Given the description of an element on the screen output the (x, y) to click on. 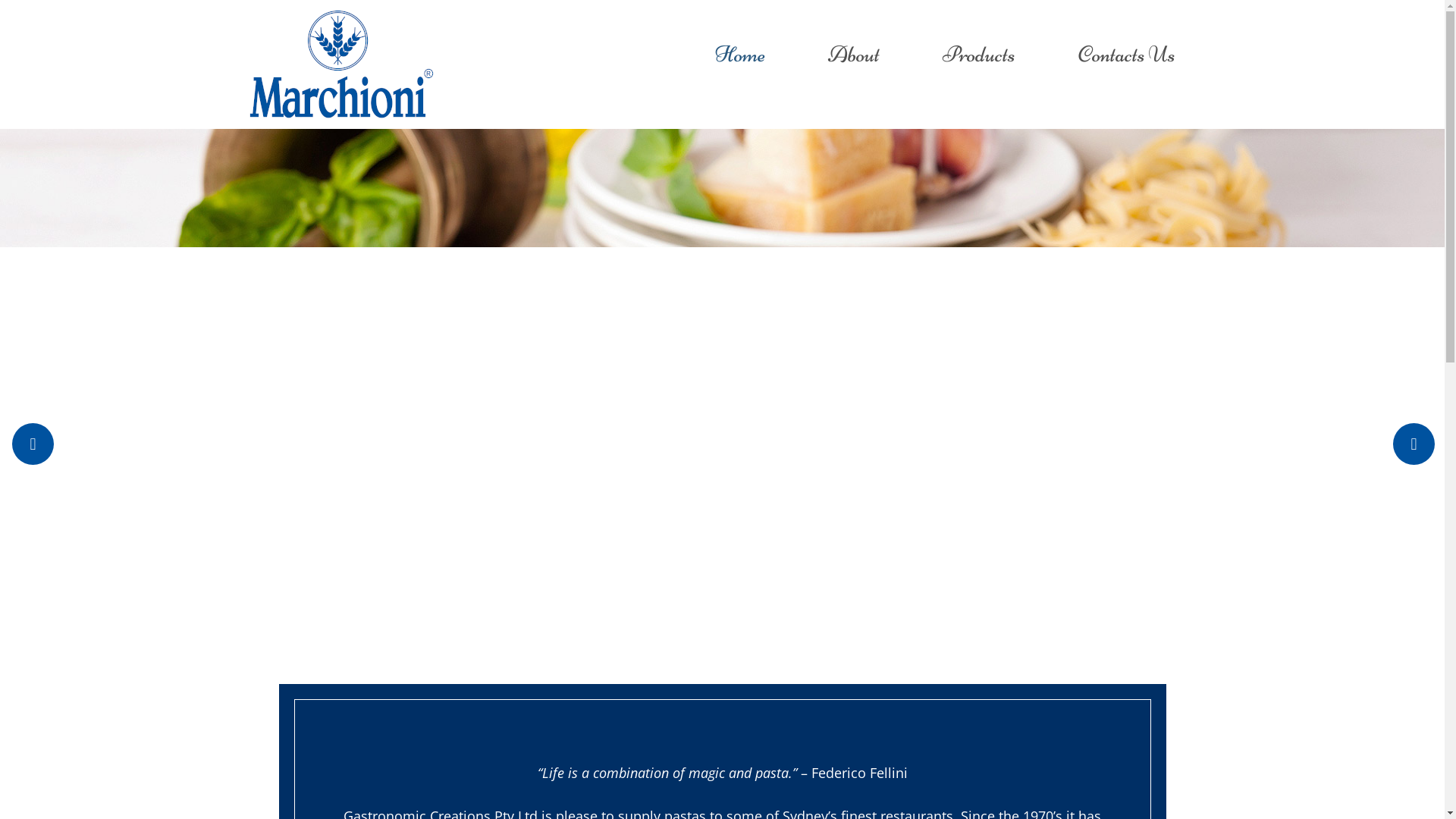
Home Element type: text (740, 56)
About Element type: text (853, 56)
Contacts Us Element type: text (1126, 56)
Products Element type: text (978, 56)
